Given the description of an element on the screen output the (x, y) to click on. 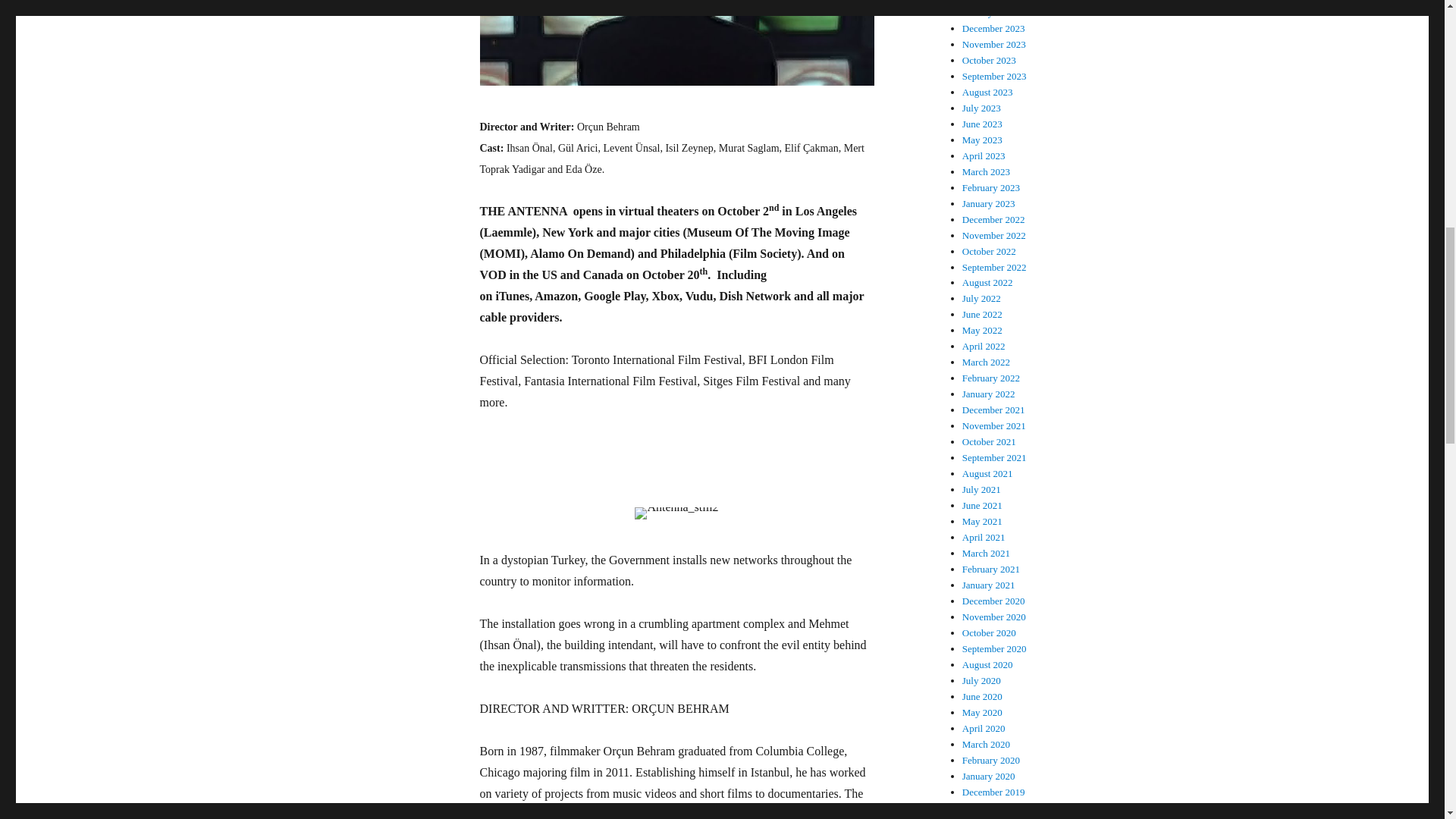
January 2024 (988, 12)
December 2023 (993, 28)
September 2023 (994, 75)
October 2023 (989, 60)
November 2023 (994, 43)
February 2024 (991, 1)
